Given the description of an element on the screen output the (x, y) to click on. 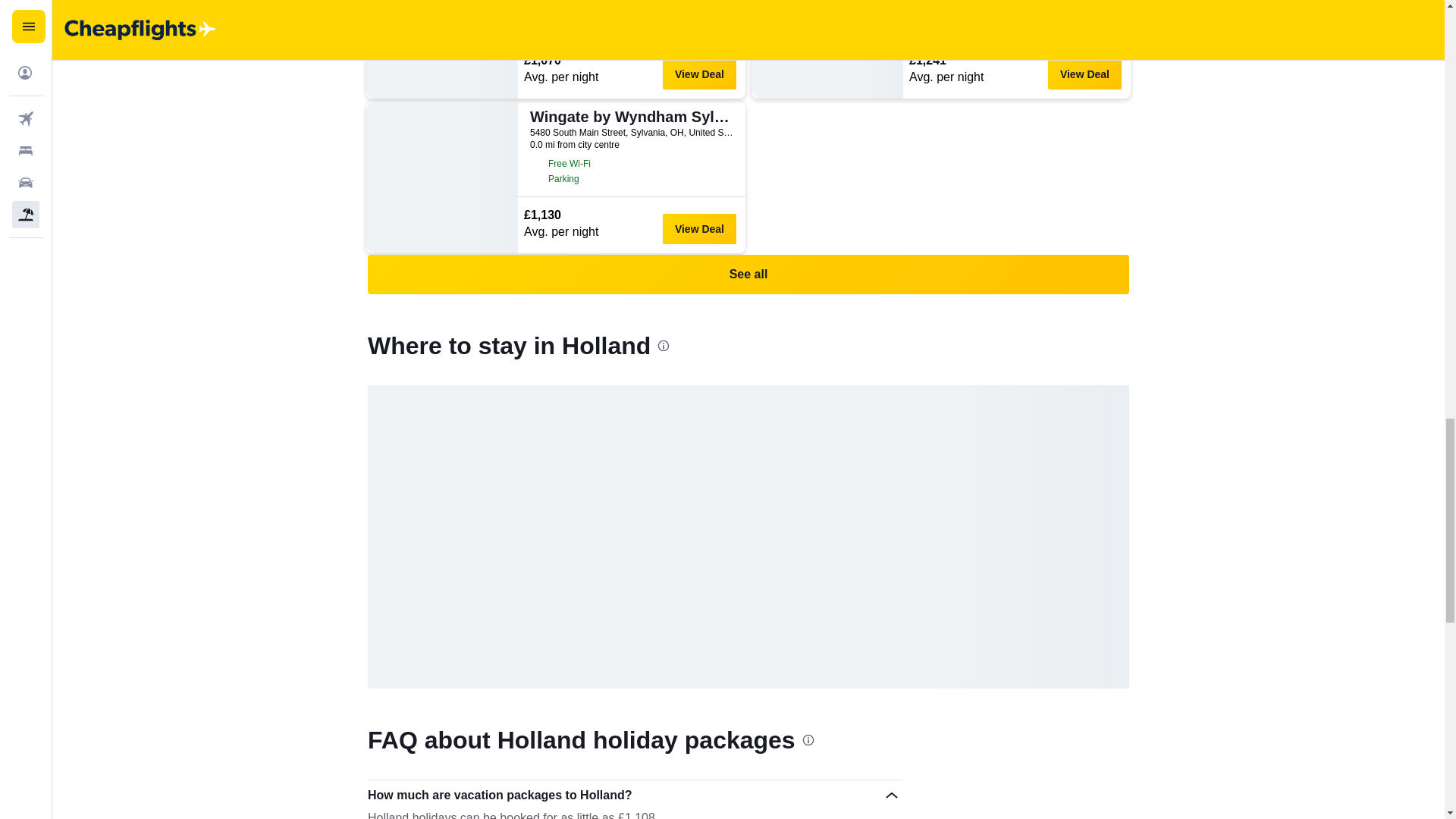
View Deal (699, 73)
View Deal (1084, 73)
View Deal (699, 228)
